Given the description of an element on the screen output the (x, y) to click on. 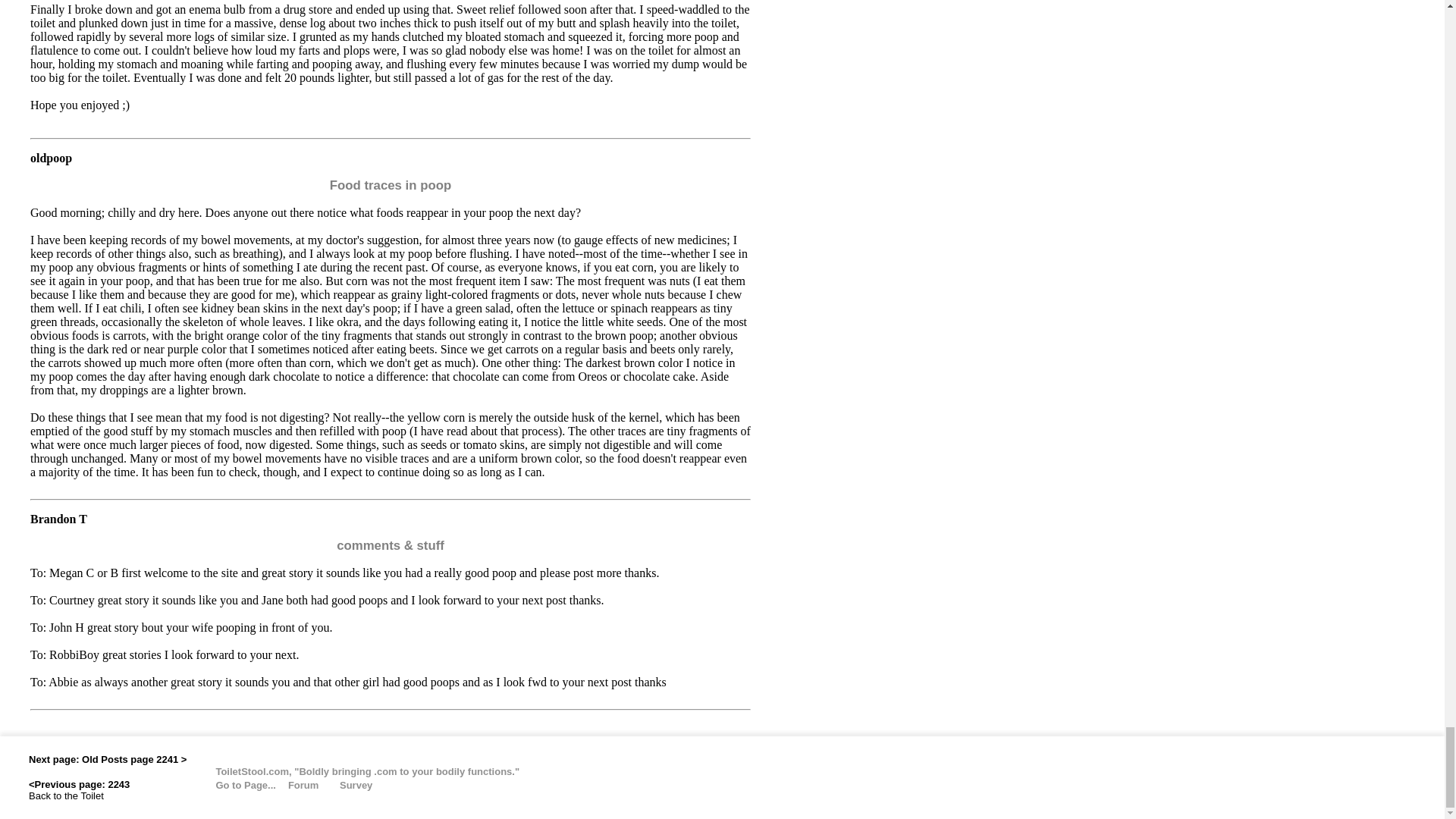
Forum       (312, 784)
       Go to Page... (234, 784)
Select a page by number (234, 784)
Take the Sitting on the Toilet Survey. (354, 784)
Back to the Toilet (66, 794)
Survey (354, 784)
